Given the description of an element on the screen output the (x, y) to click on. 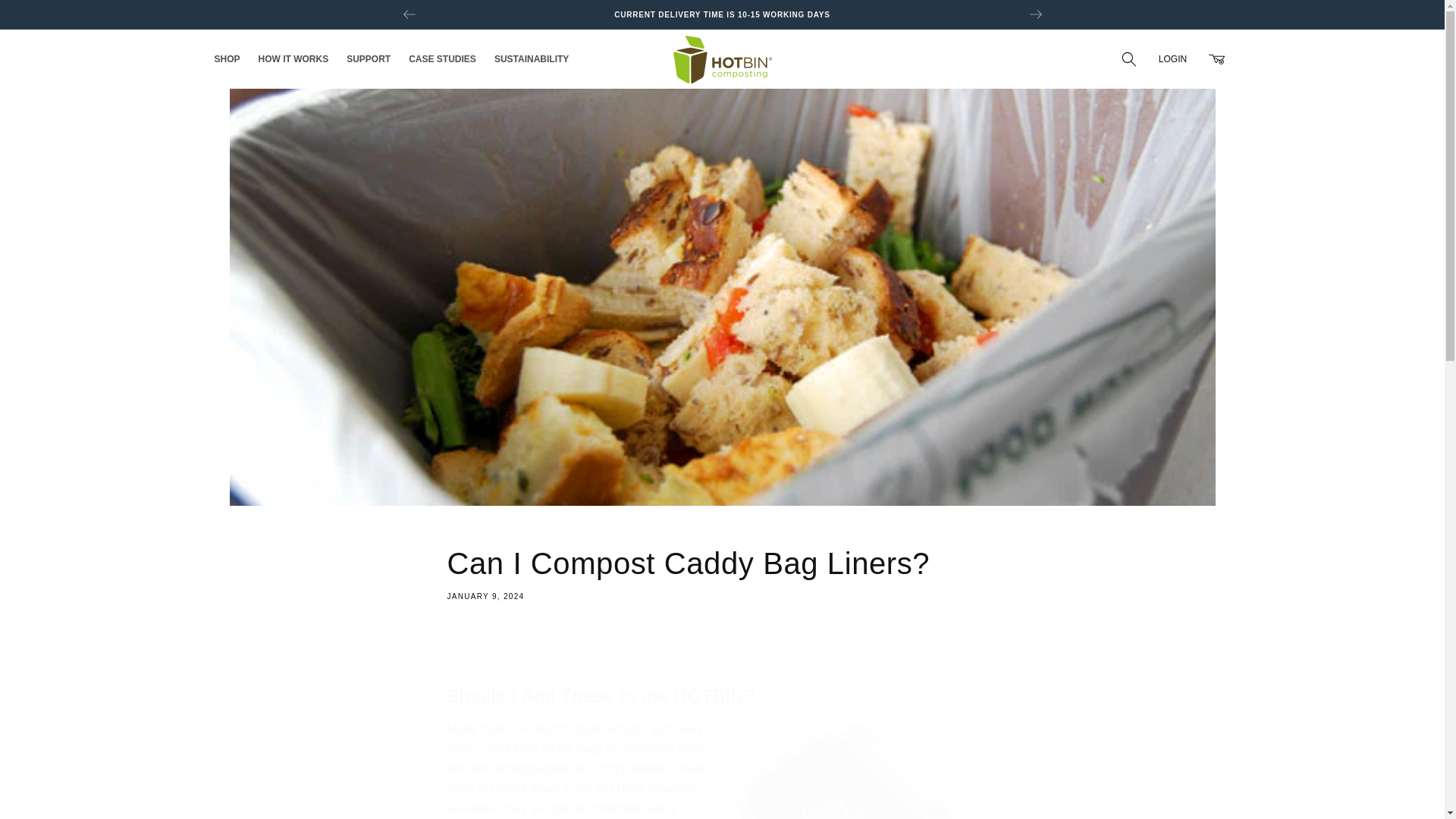
LOGIN (1172, 59)
CASE STUDIES (721, 572)
Share (441, 59)
SKIP TO CONTENT (721, 655)
HOW IT WORKS (45, 17)
CART (292, 59)
SUSTAINABILITY (1216, 59)
